Given the description of an element on the screen output the (x, y) to click on. 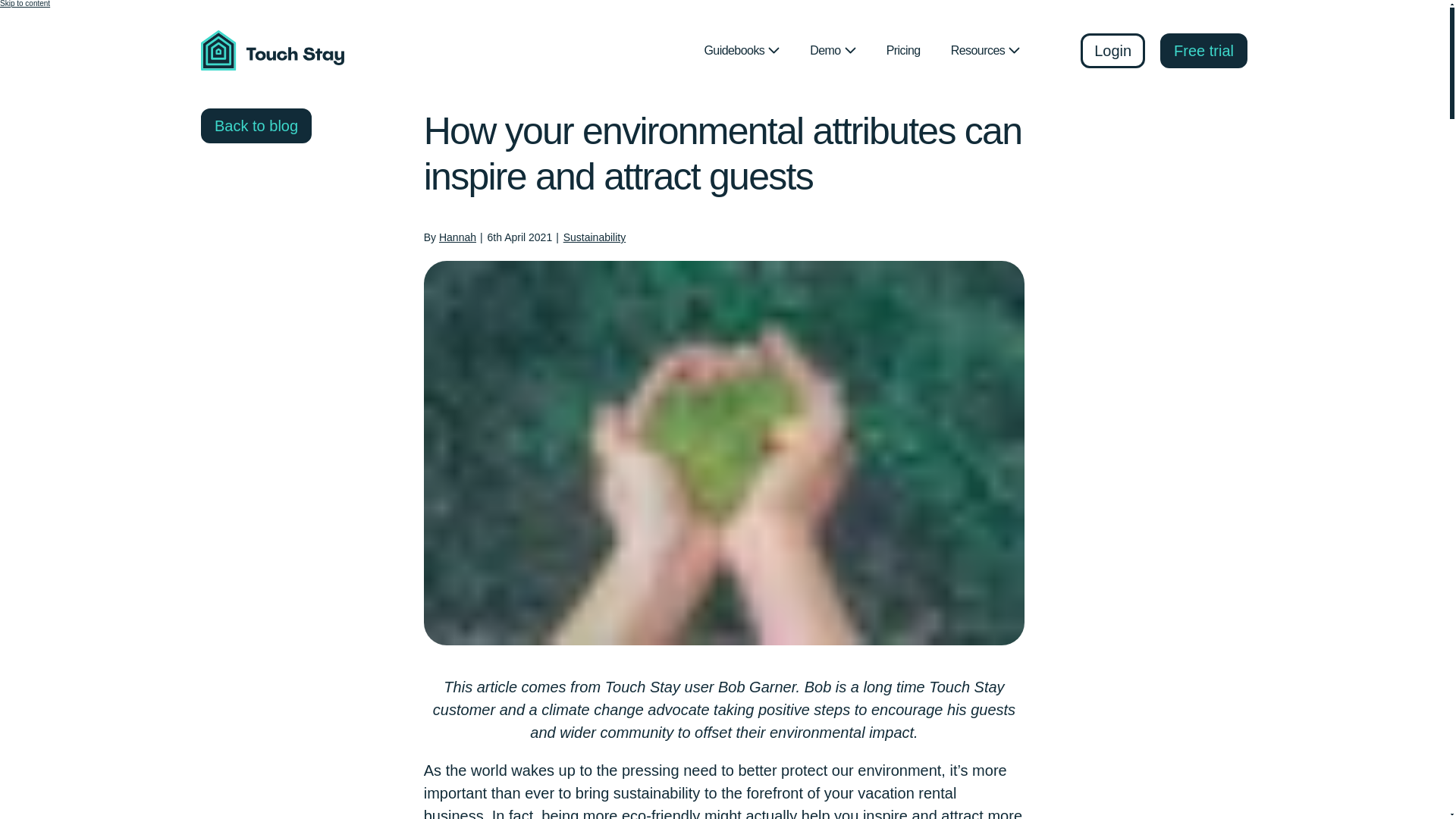
Pricing (903, 50)
Touch Stay (276, 50)
Guidebooks (741, 50)
Demo (832, 50)
Skip to content (24, 3)
Resources (985, 50)
